Given the description of an element on the screen output the (x, y) to click on. 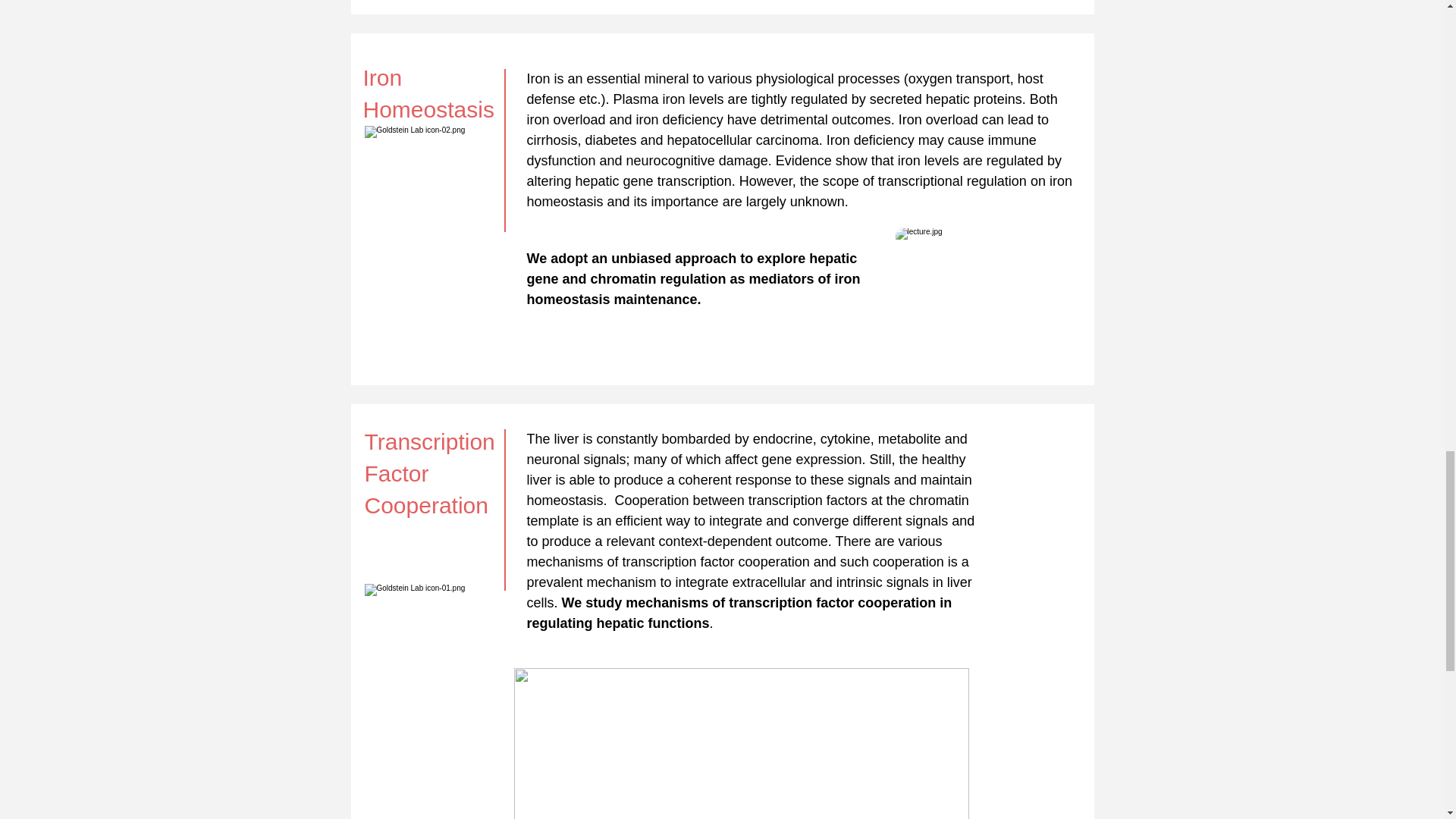
graphical abstract.jpeg (741, 743)
